Given the description of an element on the screen output the (x, y) to click on. 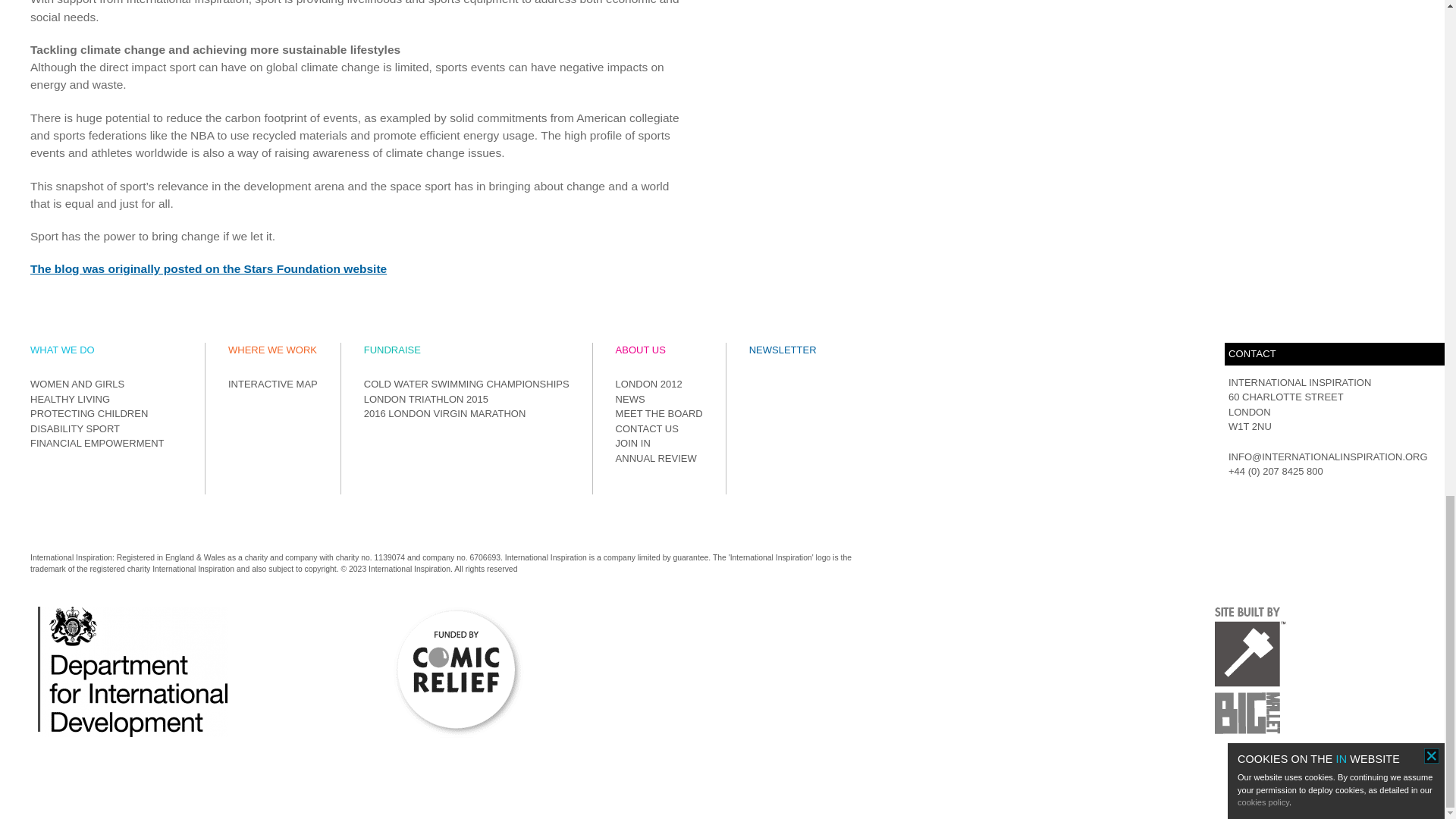
2016 London Virgin Marathon (444, 413)
WOMEN AND GIRLS (76, 383)
WHAT WE DO (62, 349)
HEALTHY LIVING (70, 398)
